Given the description of an element on the screen output the (x, y) to click on. 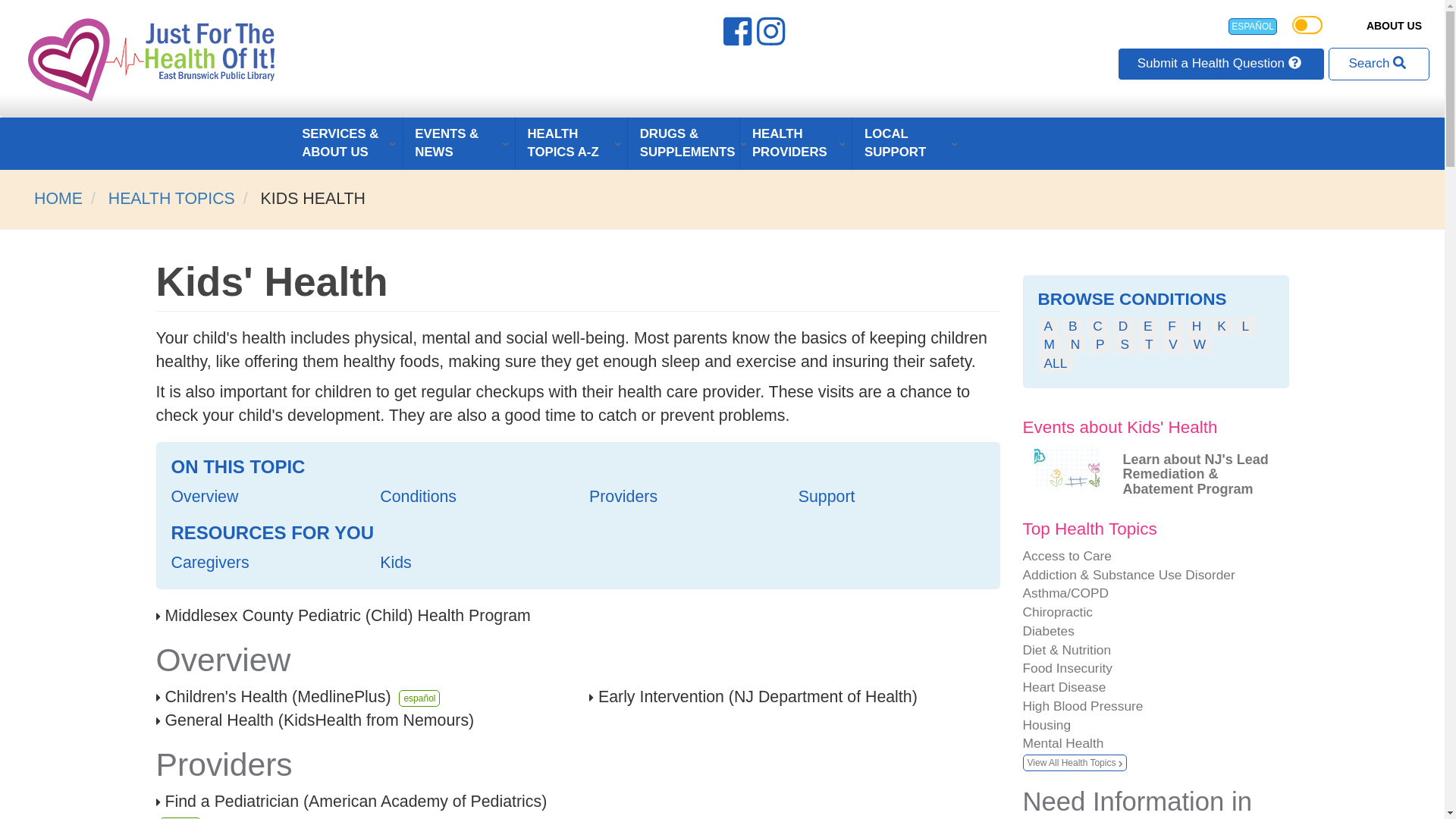
HEALTH TOPICS A-Z (571, 143)
Submit a Health Question   (1221, 63)
Follow us on Instagram (773, 37)
Search   (1378, 63)
Follow us on Facebook (739, 37)
ABOUT US (1393, 25)
Home (153, 58)
